Given the description of an element on the screen output the (x, y) to click on. 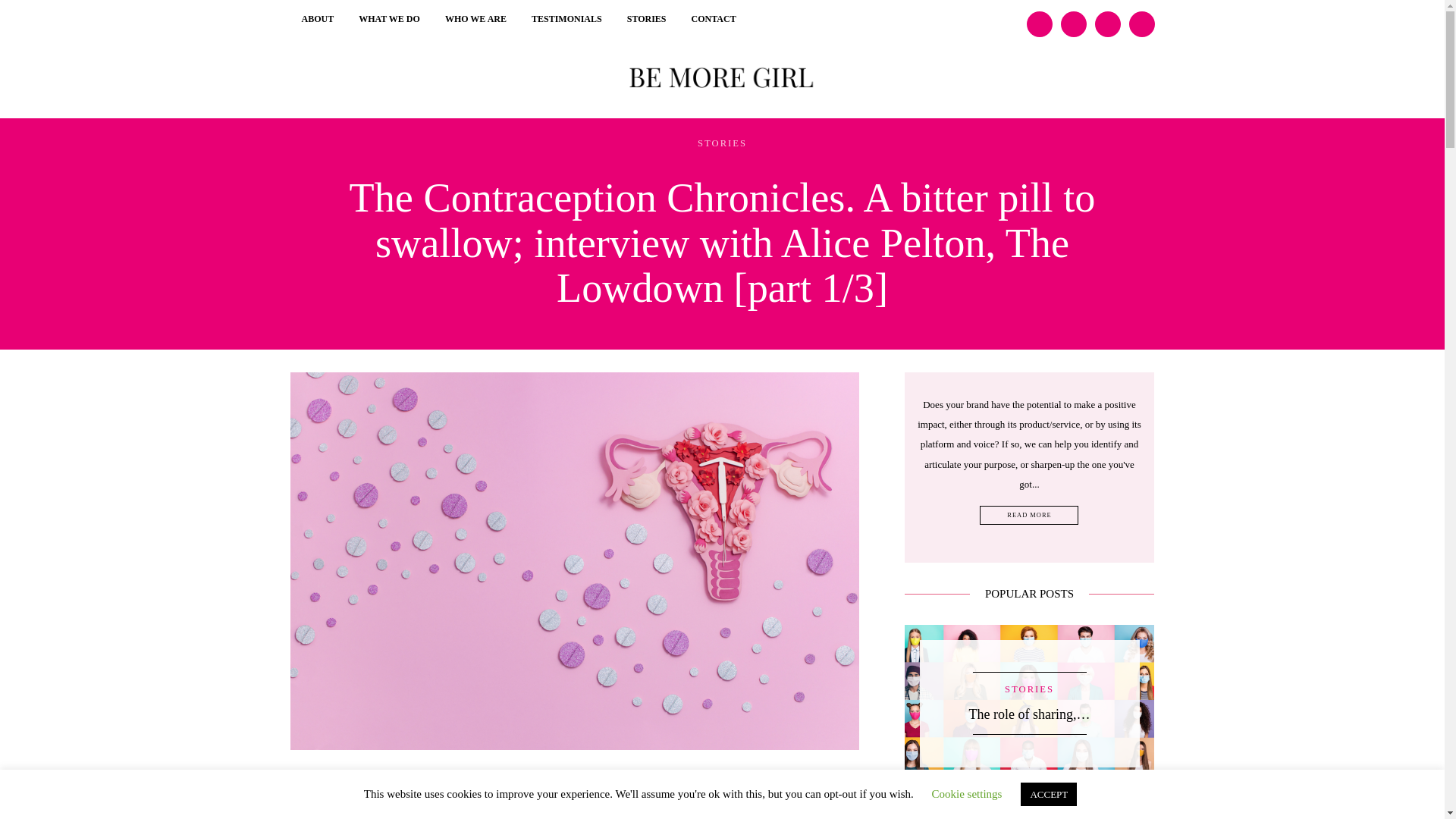
STORIES (721, 143)
CONTACT (713, 19)
ABOUT (317, 19)
WHAT WE DO (389, 19)
Be More Girl (722, 75)
STORIES (646, 19)
TESTIMONIALS (566, 19)
WHO WE ARE (475, 19)
